Given the description of an element on the screen output the (x, y) to click on. 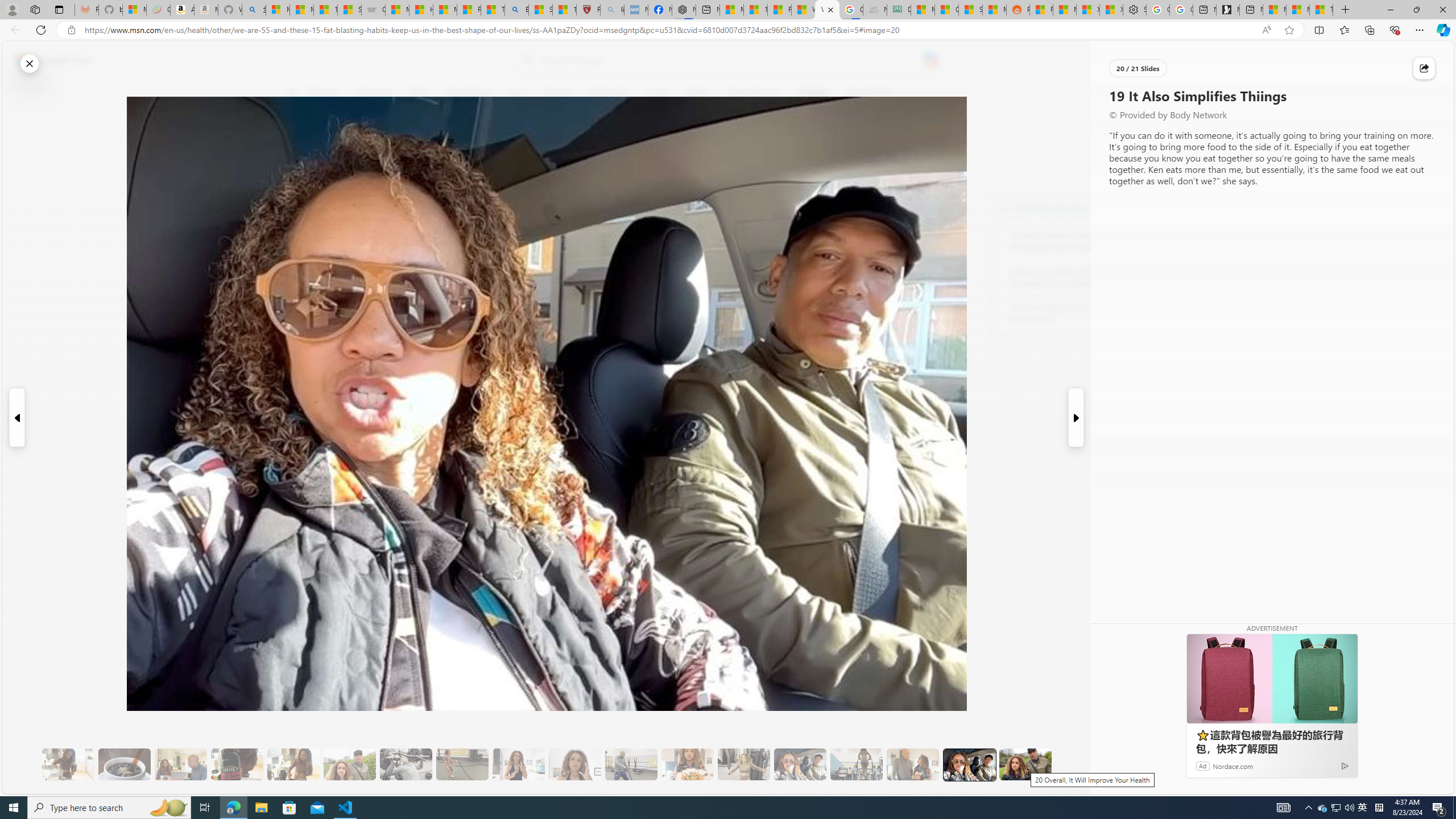
7 They Don't Skip Meals (293, 764)
16 The Couple's Program Helps with Accountability (800, 764)
DITOGAMES AG Imprint (898, 9)
Open Copilot (930, 59)
Discover (322, 92)
Lifestyle (812, 92)
Local (517, 92)
